Given the description of an element on the screen output the (x, y) to click on. 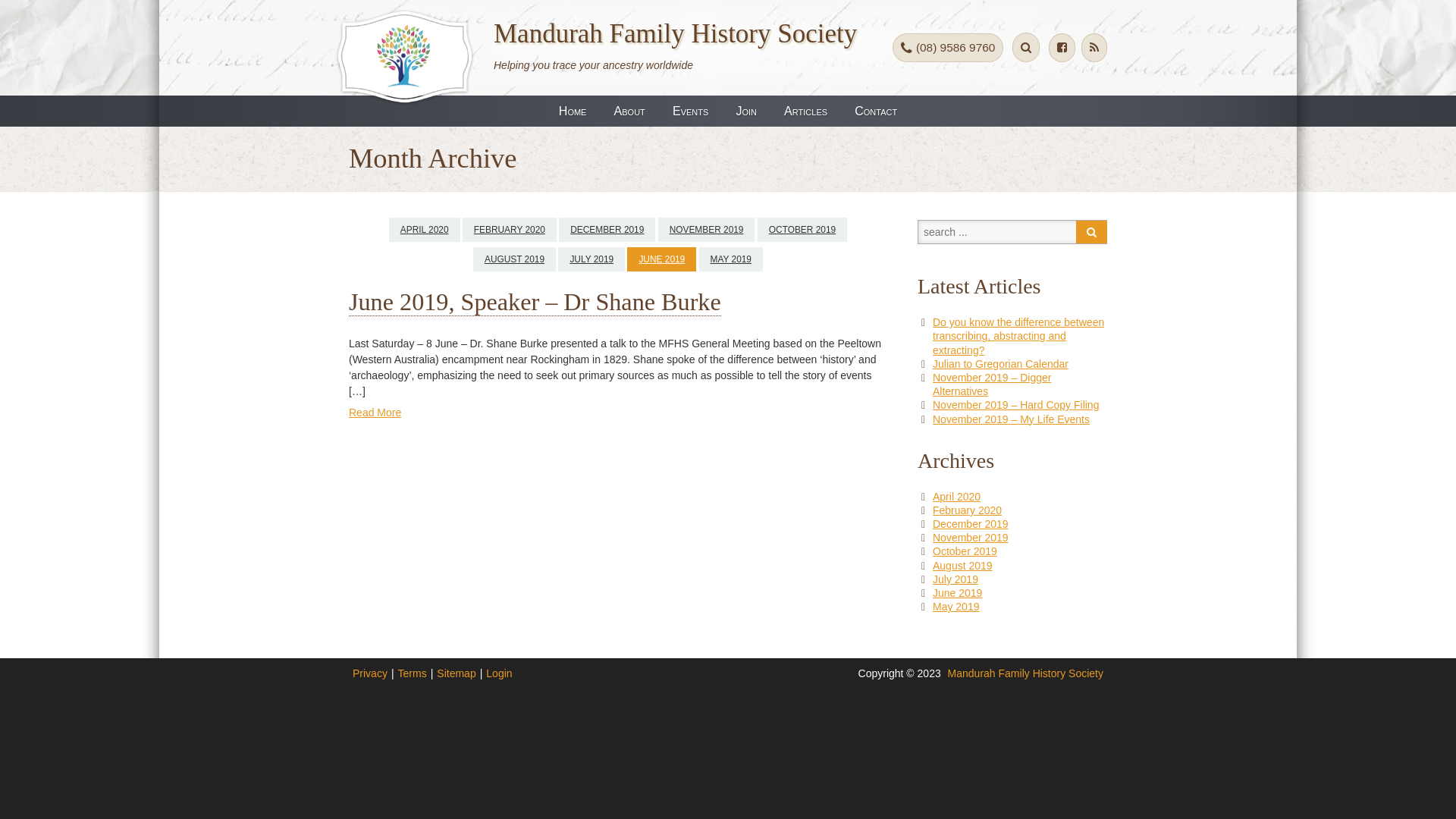
April 2020 Element type: text (956, 496)
APRIL 2020 Element type: text (424, 229)
Login Element type: text (498, 673)
Julian to Gregorian Calendar Element type: text (1000, 363)
RSS Feed Element type: hover (1094, 47)
Events Element type: text (690, 110)
May 2019 Element type: text (955, 606)
Privacy Element type: text (369, 673)
June 2019 Element type: text (957, 592)
About Element type: text (628, 110)
JUNE 2019 Element type: text (661, 259)
Read More Element type: text (374, 412)
Search Element type: hover (1025, 47)
MAY 2019 Element type: text (730, 259)
AUGUST 2019 Element type: text (514, 259)
February 2020 Element type: text (966, 510)
Contact Element type: text (875, 110)
October 2019 Element type: text (964, 551)
NOVEMBER 2019 Element type: text (706, 229)
Articles Element type: text (805, 110)
Sitemap Element type: text (455, 673)
Mandurah Family History Society Element type: text (1025, 673)
DECEMBER 2019 Element type: text (606, 229)
Search Element type: hover (1091, 231)
(08) 9586 9760 Element type: text (947, 47)
FEBRUARY 2020 Element type: text (509, 229)
Facebook Element type: hover (1061, 47)
July 2019 Element type: text (955, 579)
JULY 2019 Element type: text (591, 259)
August 2019 Element type: text (962, 565)
Terms Element type: text (412, 673)
December 2019 Element type: text (970, 523)
Join Element type: text (745, 110)
Home Element type: text (572, 110)
Mandurah Family History Society Element type: text (680, 33)
November 2019 Element type: text (970, 537)
OCTOBER 2019 Element type: text (802, 229)
